Given the description of an element on the screen output the (x, y) to click on. 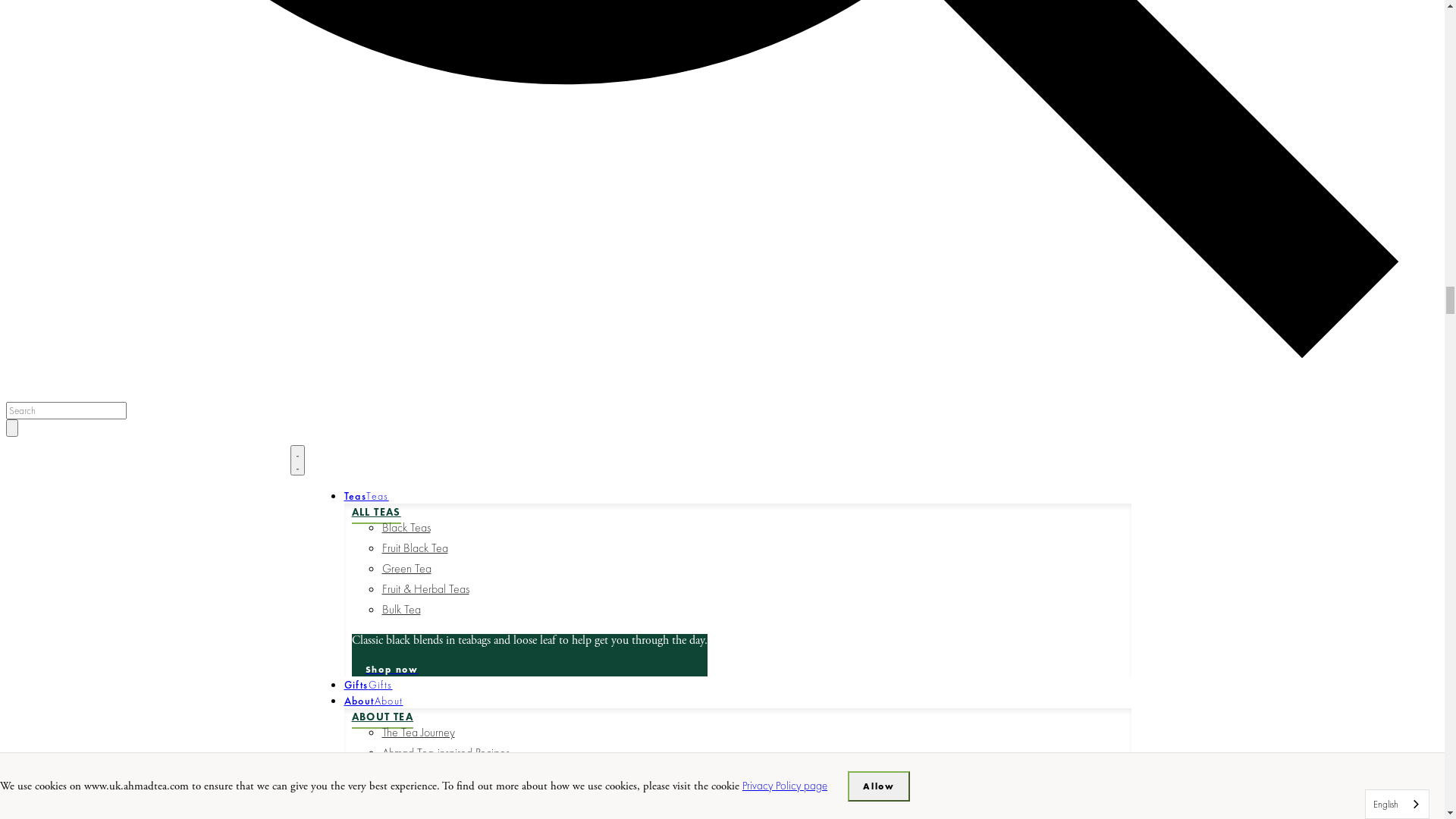
Teas Element type: text (35, 47)
Black Teas Element type: text (75, 94)
About Us Element type: text (51, 337)
Fruit & Herbal Teas Element type: text (94, 155)
Our Food Service Element type: text (91, 406)
Ahmad Tea-inspired Recipes Element type: text (114, 287)
Bulk Tea Element type: text (70, 176)
The Tea Journey Element type: text (87, 267)
Our Charity Work Element type: text (92, 386)
Our Story Element type: text (73, 365)
Green Tea Element type: text (75, 135)
SELECT COUNTRY Element type: text (65, 450)
Knowledge & News from Ahmad Tea UK Element type: text (145, 308)
Skip to content Element type: text (39, 13)
About Element type: text (38, 220)
CHF Element type: text (44, 511)
Gifts Element type: text (30, 204)
Fruit Black Tea Element type: text (84, 114)
CHF Element type: text (100, 486)
All Teas Element type: text (48, 65)
About Tea Element type: text (54, 238)
